Given the description of an element on the screen output the (x, y) to click on. 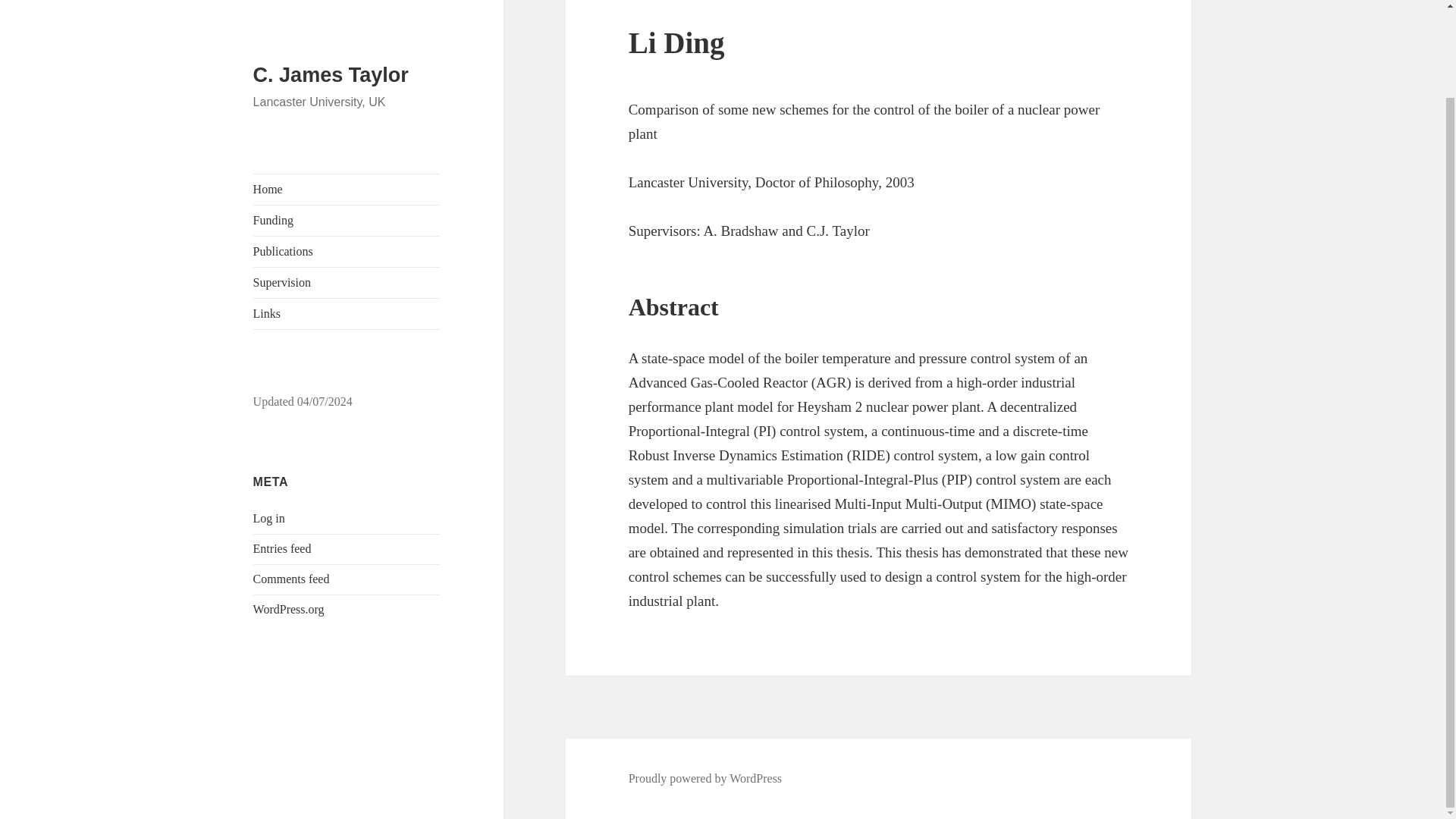
Supervision (347, 182)
Links (347, 214)
Home (347, 89)
Log in (269, 418)
Comments feed (291, 478)
Publications (347, 151)
Proudly powered by WordPress (704, 778)
Entries feed (282, 448)
WordPress.org (288, 508)
Funding (347, 120)
